Given the description of an element on the screen output the (x, y) to click on. 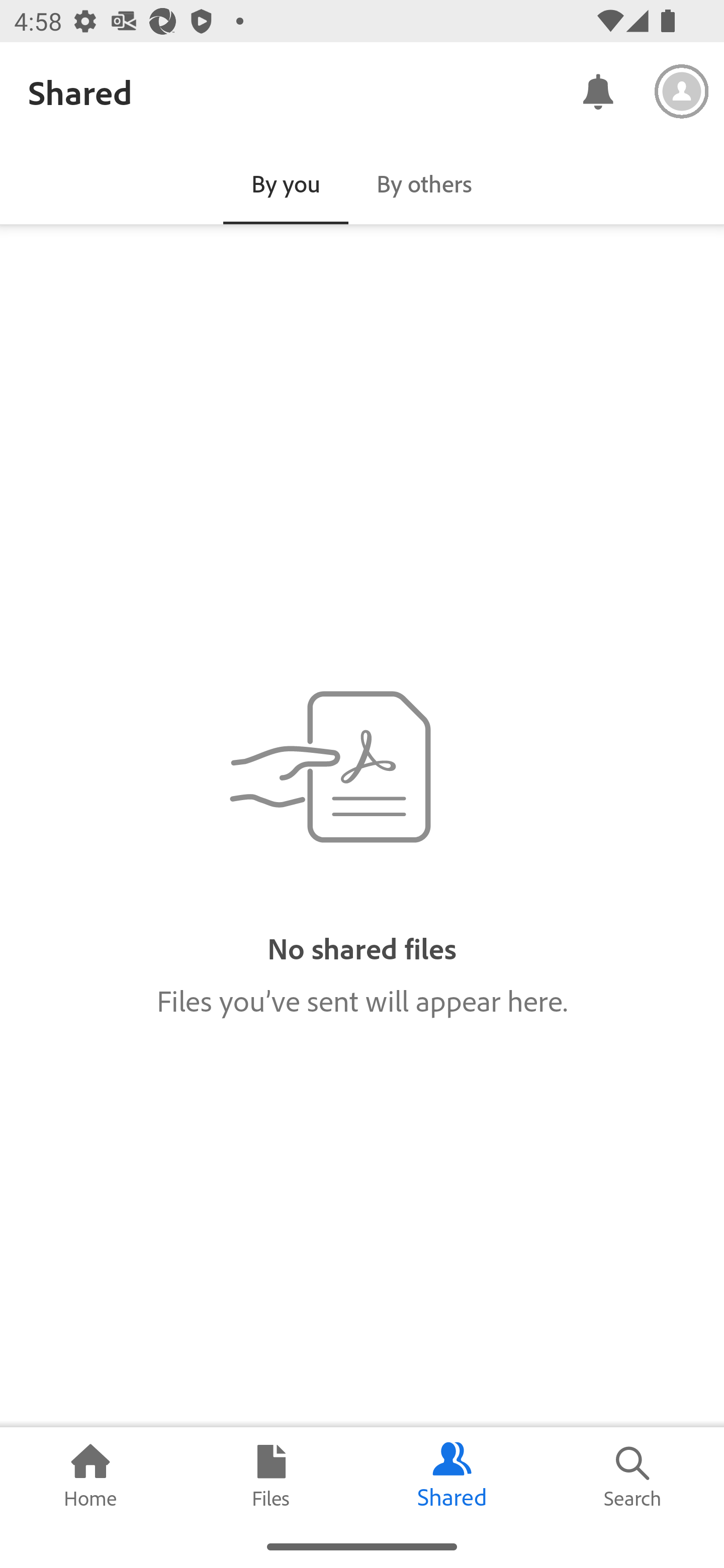
Notifications (597, 90)
Settings (681, 91)
By you (285, 183)
By others (424, 183)
Home (90, 1475)
Files (271, 1475)
Shared (452, 1475)
Search (633, 1475)
